Given the description of an element on the screen output the (x, y) to click on. 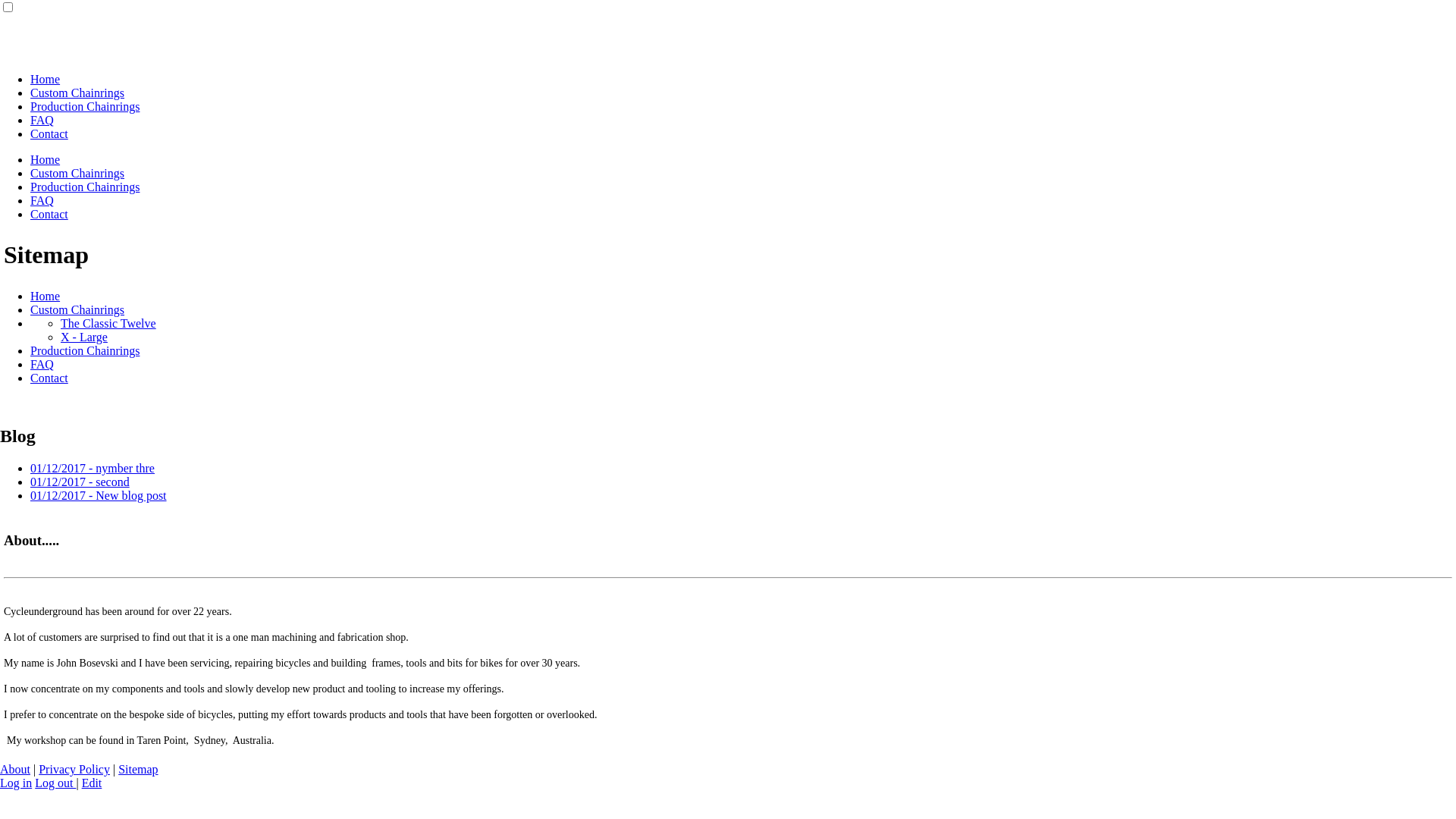
Sitemap Element type: text (137, 768)
Home Element type: text (44, 159)
The Classic Twelve Element type: text (108, 322)
Home Element type: text (44, 78)
X - Large Element type: text (83, 336)
Custom Chainrings Element type: text (77, 172)
Contact Element type: text (49, 377)
Edit Element type: text (91, 782)
Production Chainrings Element type: text (84, 106)
FAQ Element type: text (41, 363)
01/12/2017 - New blog post Element type: text (98, 495)
Custom Chainrings Element type: text (77, 92)
FAQ Element type: text (41, 200)
Privacy Policy Element type: text (73, 768)
01/12/2017 - nymber thre Element type: text (92, 467)
About Element type: text (15, 768)
Production Chainrings Element type: text (84, 350)
Log out Element type: text (54, 782)
Log in Element type: text (15, 782)
01/12/2017 - second Element type: text (79, 481)
Production Chainrings Element type: text (84, 186)
Contact Element type: text (49, 213)
FAQ Element type: text (41, 119)
Home Element type: text (44, 295)
Custom Chainrings Element type: text (77, 309)
Contact Element type: text (49, 133)
